Given the description of an element on the screen output the (x, y) to click on. 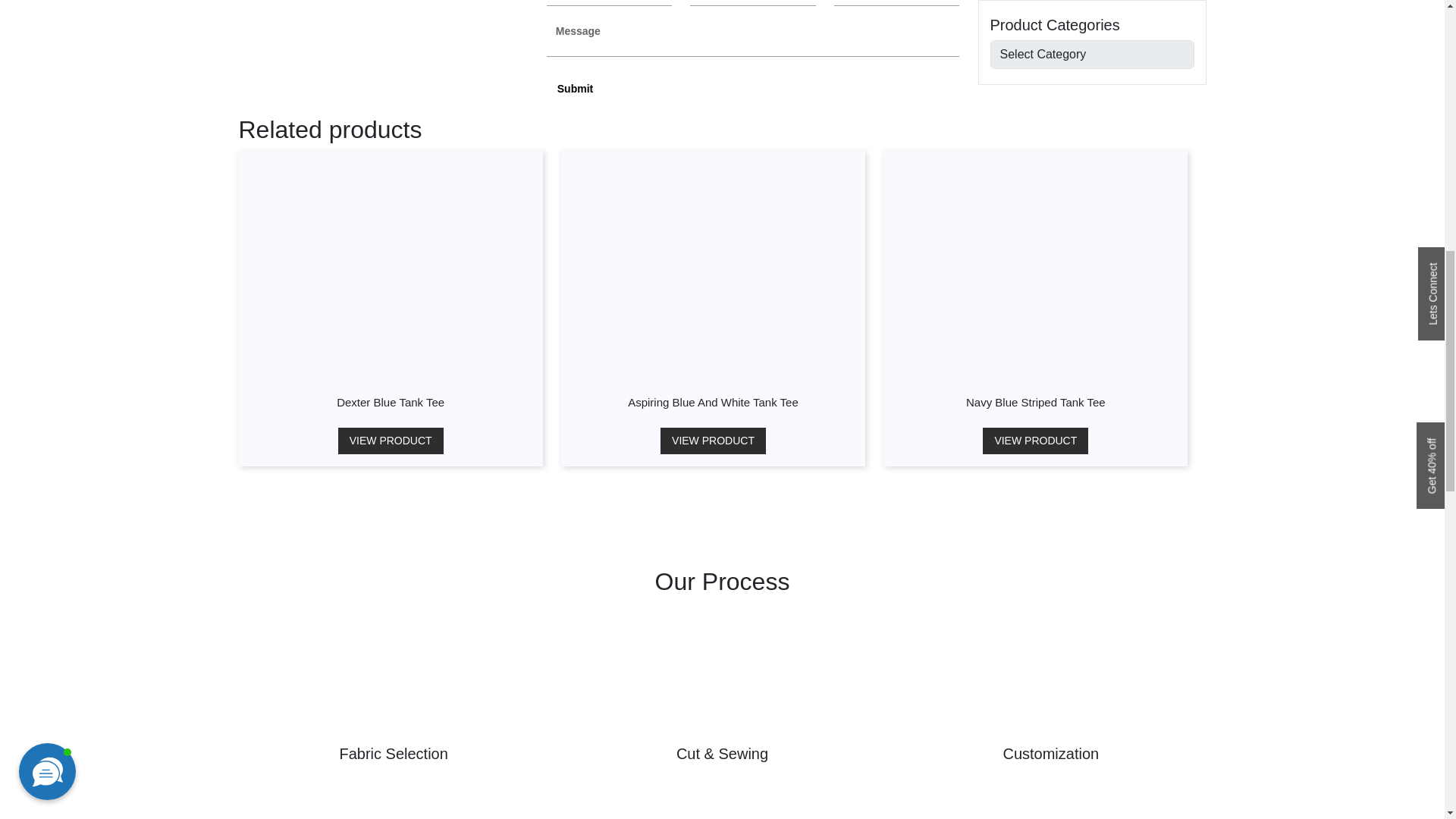
Dexter Blue Tank Tee (389, 402)
Submit (575, 87)
VIEW PRODUCT (390, 440)
Submit (575, 87)
